Given the description of an element on the screen output the (x, y) to click on. 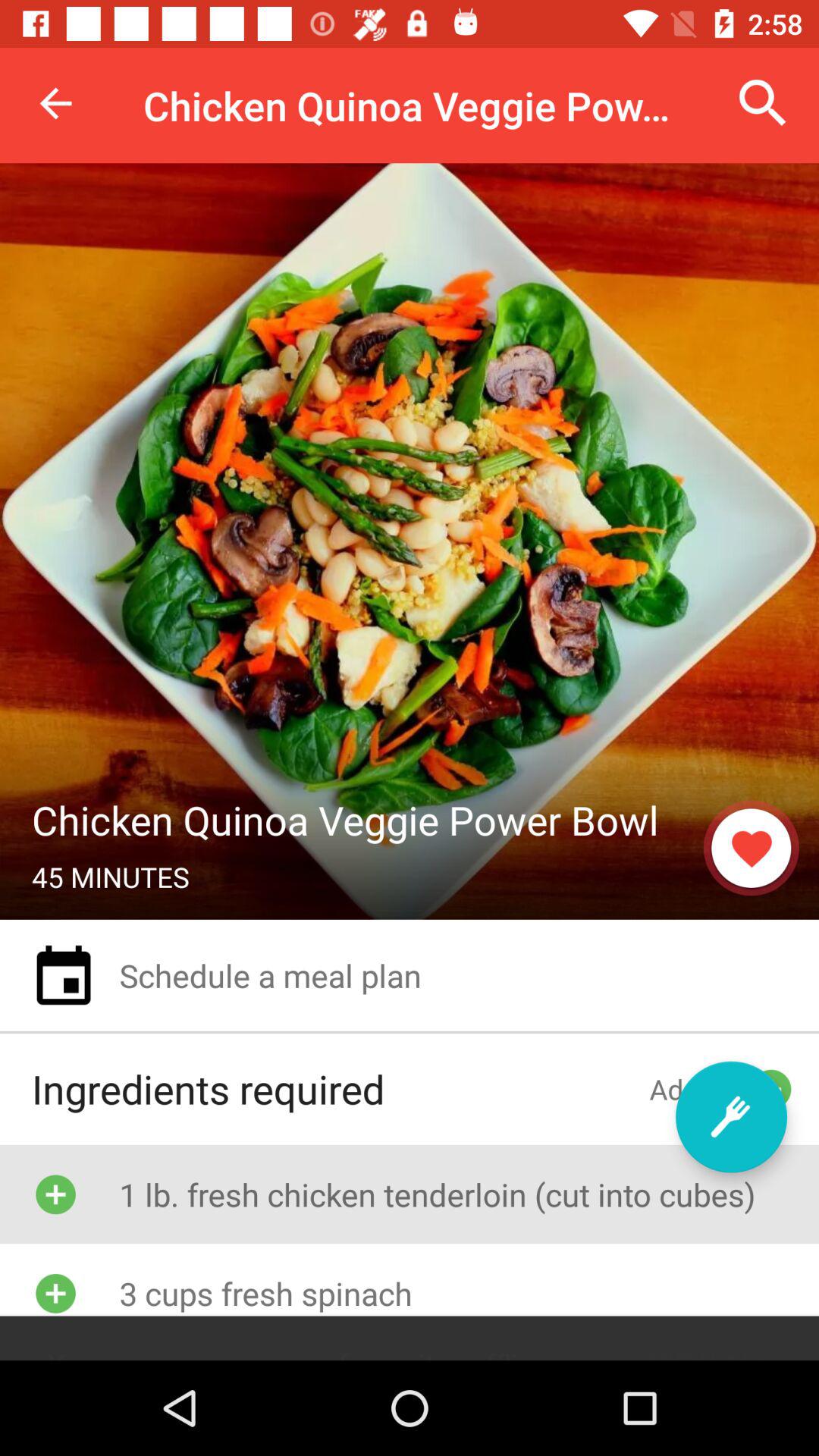
click the  symbol at bottom left (55, 1292)
